Given the description of an element on the screen output the (x, y) to click on. 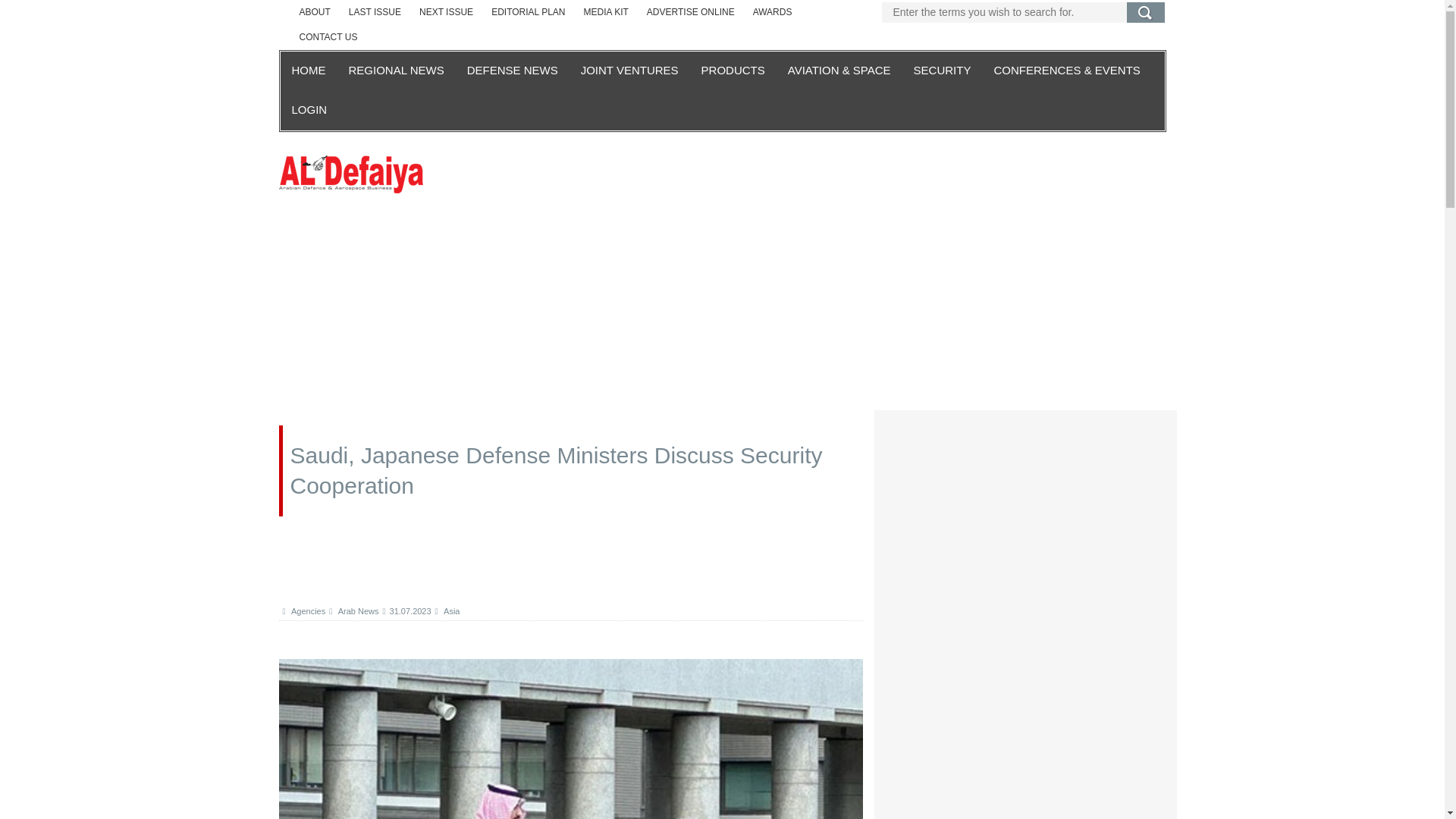
CONTACT US (327, 37)
EDITORIAL PLAN (527, 12)
AWARDS (773, 12)
SECURITY (942, 70)
HOME (309, 70)
REGIONAL NEWS (395, 70)
JOINT VENTURES (629, 70)
ABOUT (314, 12)
LAST ISSUE (374, 12)
Home (351, 173)
